Given the description of an element on the screen output the (x, y) to click on. 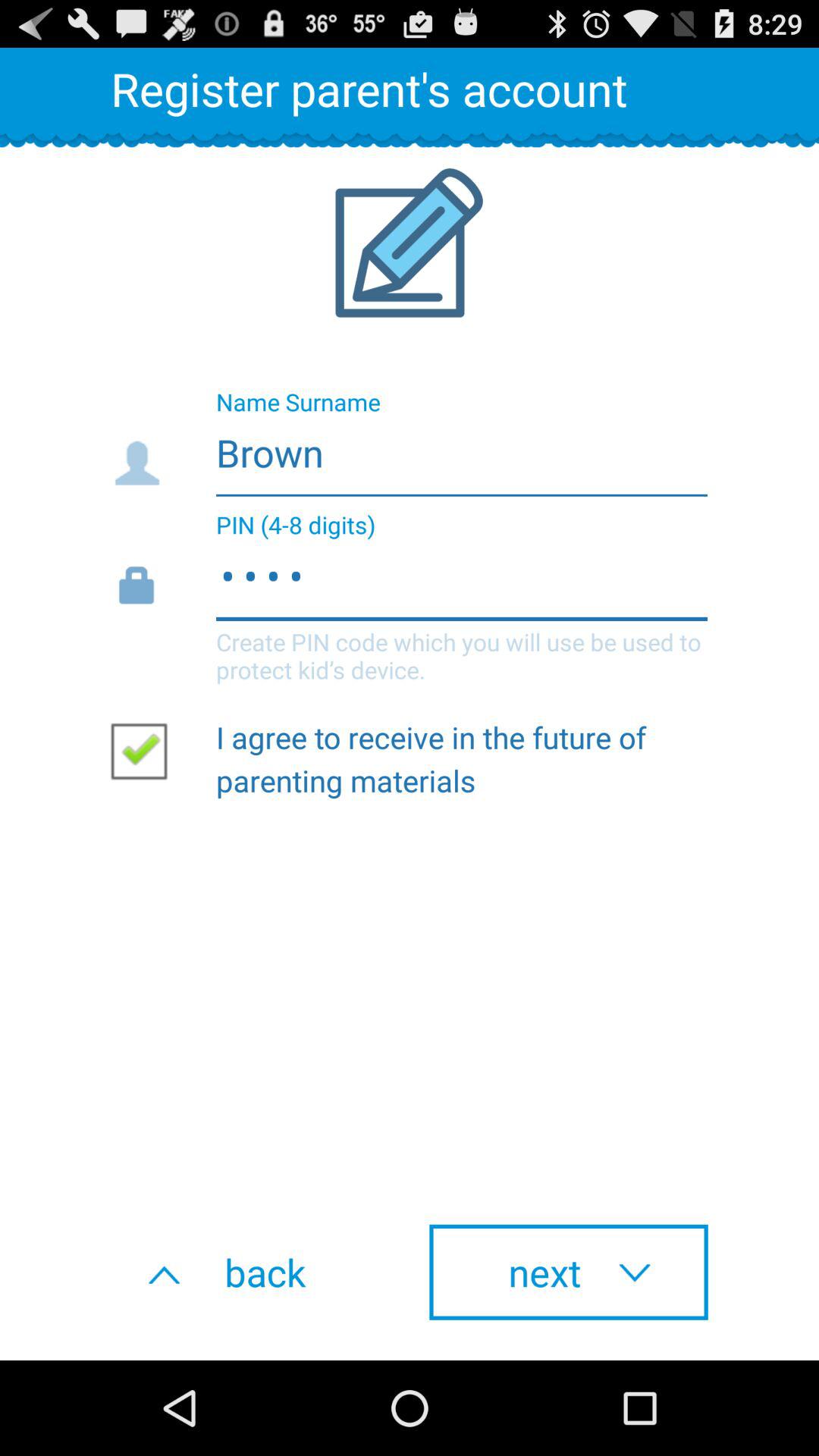
toggle agreement (145, 750)
